Given the description of an element on the screen output the (x, y) to click on. 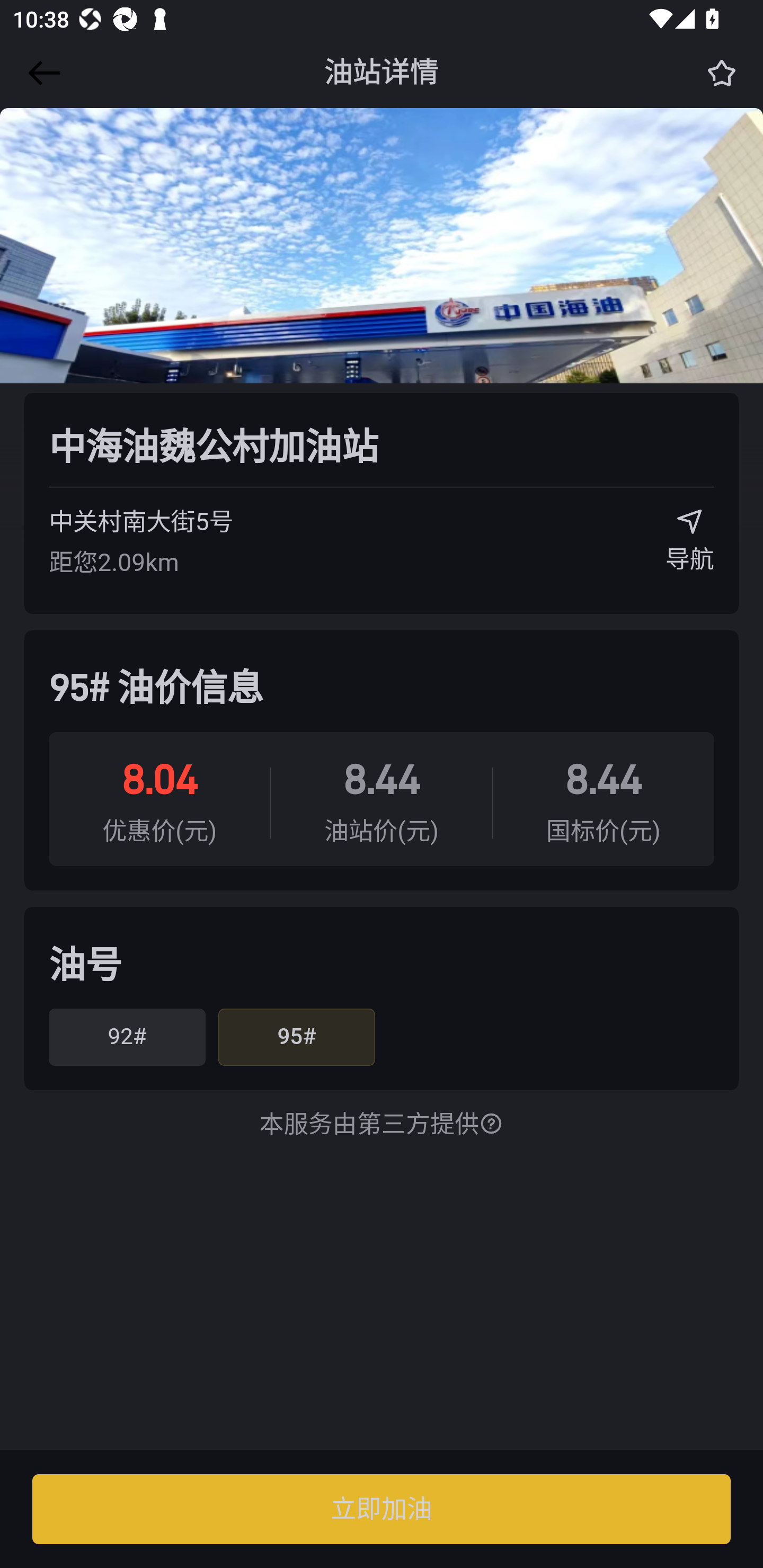
 (41, 72)
油站详情 (381, 72)
png (381, 327)
导航 (689, 547)
92#  (126, 1037)
95#  (296, 1037)
本服务由第三方提供 (381, 1124)
立即加油 (381, 1508)
